Given the description of an element on the screen output the (x, y) to click on. 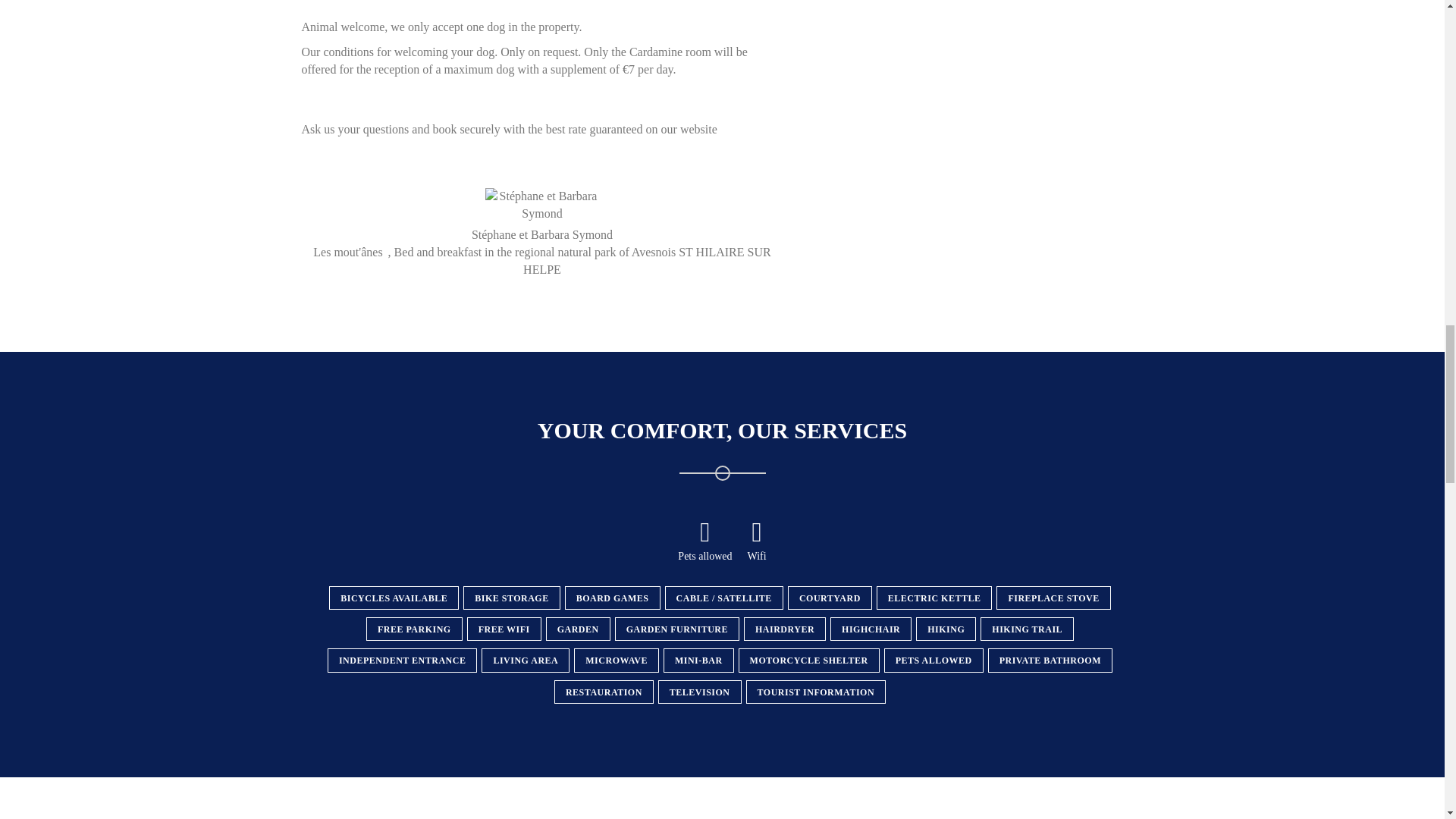
Free parking (414, 628)
Hairdryer (784, 628)
Electric kettle (934, 597)
Fireplace stove (1052, 597)
Board games (612, 597)
Bike storage (511, 597)
Garden furniture (676, 628)
Garden (578, 628)
Courtyard (829, 597)
Free WIFI (504, 628)
